Given the description of an element on the screen output the (x, y) to click on. 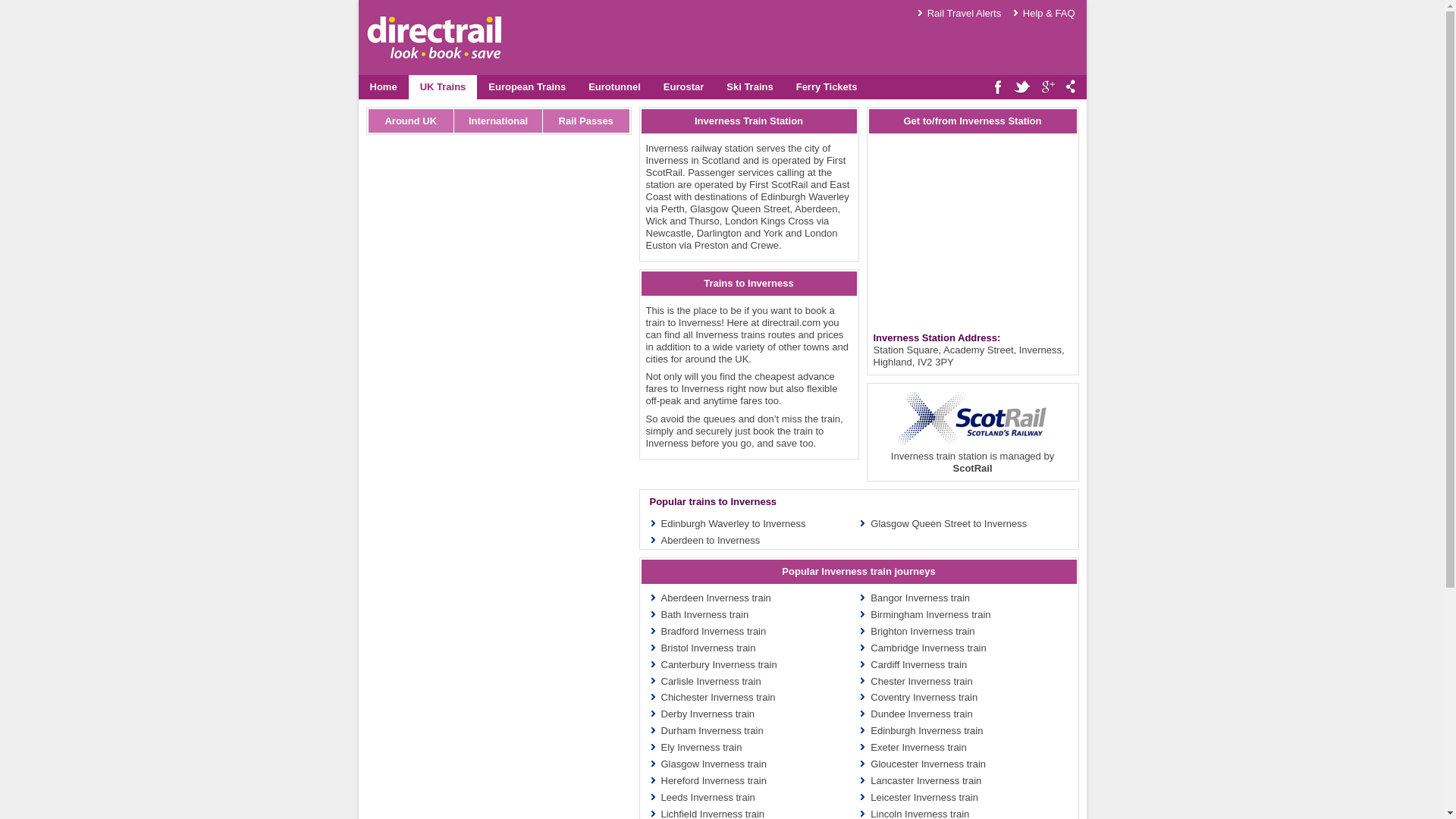
Bath Inverness train (705, 614)
Eurotunnel (614, 87)
Edinburgh Waverley to Inverness (733, 523)
ScotRail (971, 468)
Brighton Inverness train (922, 631)
Canterbury Inverness train (719, 664)
Eurostar (683, 87)
Ferry Tickets (826, 87)
Bristol Inverness train (708, 647)
Around UK (411, 120)
